Given the description of an element on the screen output the (x, y) to click on. 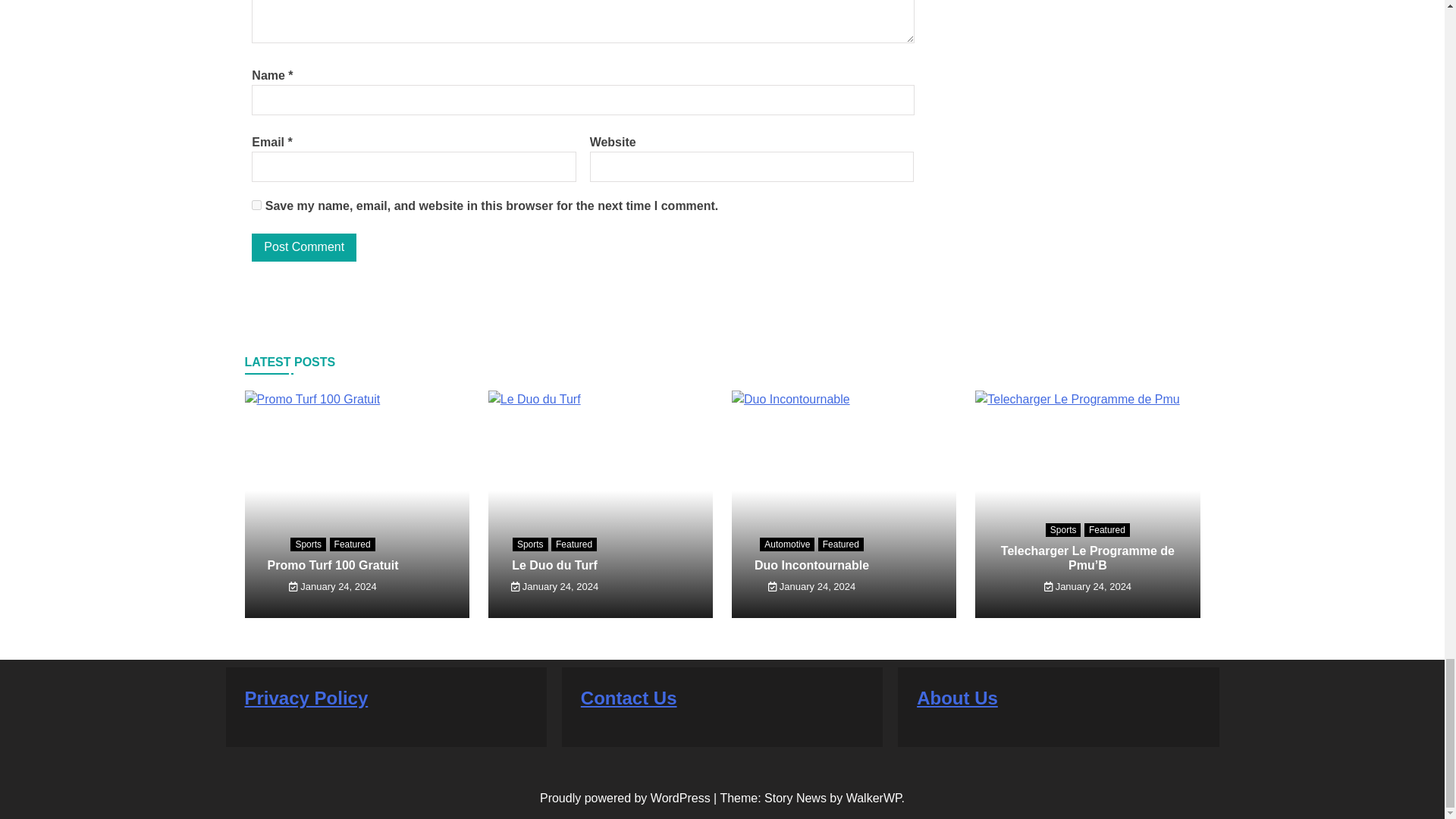
yes (256, 204)
Post Comment (303, 247)
